Given the description of an element on the screen output the (x, y) to click on. 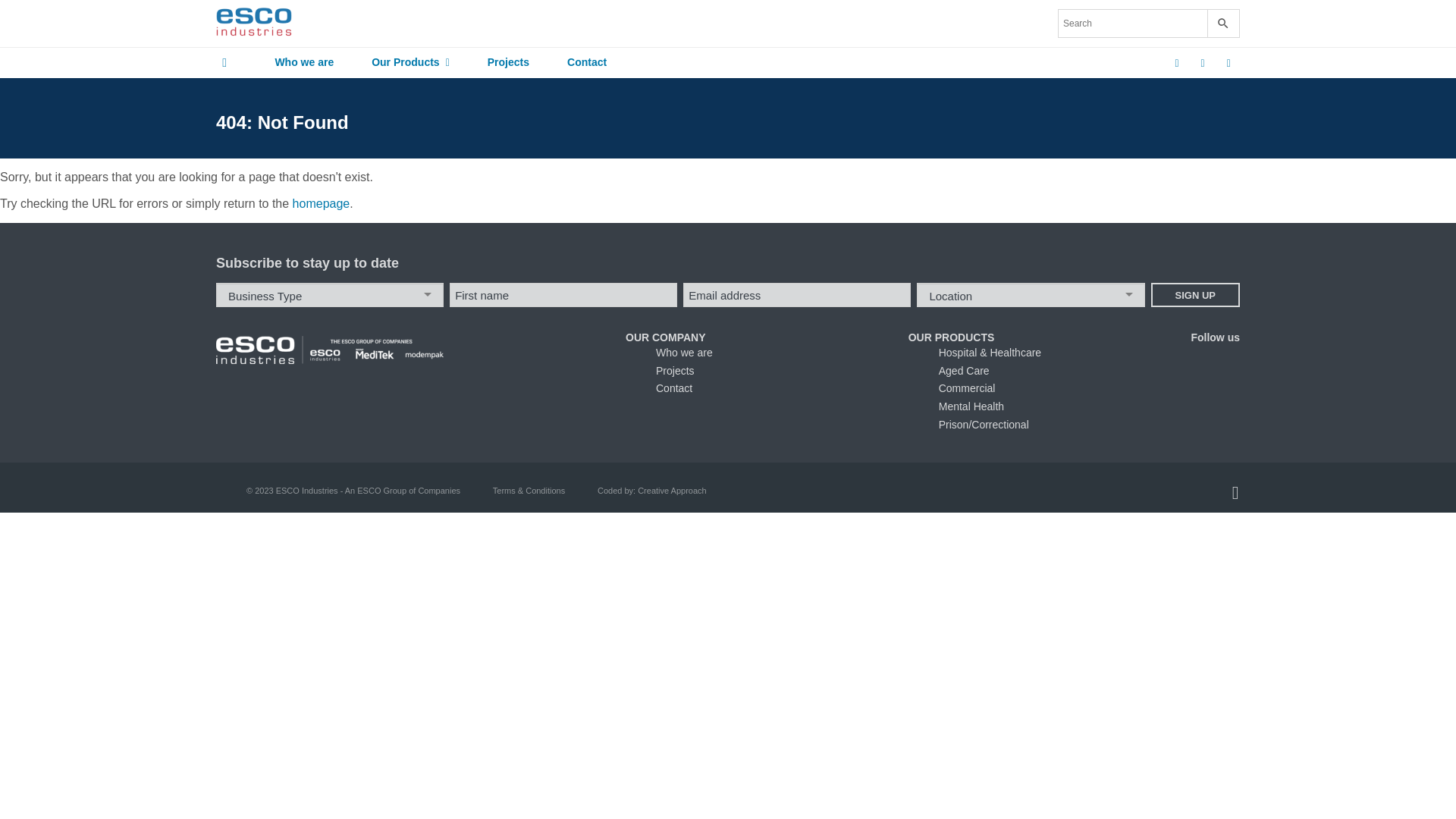
homepage Element type: text (321, 203)
Who we are Element type: text (683, 352)
ESCO Industries Element type: hover (253, 23)
Aged Care Element type: text (963, 370)
Coded by: Creative Approach Element type: text (651, 490)
Prison/Correctional Element type: text (983, 424)
Mental Health Element type: text (971, 406)
Projects Element type: text (674, 370)
Our Products Element type: text (410, 62)
Contact Element type: text (673, 388)
Who we are Element type: text (303, 62)
Call us on 1300 879 363 Element type: hover (1228, 62)
Hospital & Healthcare Element type: text (989, 352)
Contact Element type: text (586, 62)
Sign up Element type: text (1195, 294)
Projects Element type: text (508, 62)
Terms & Conditions Element type: text (528, 490)
Commercial Element type: text (966, 388)
